Given the description of an element on the screen output the (x, y) to click on. 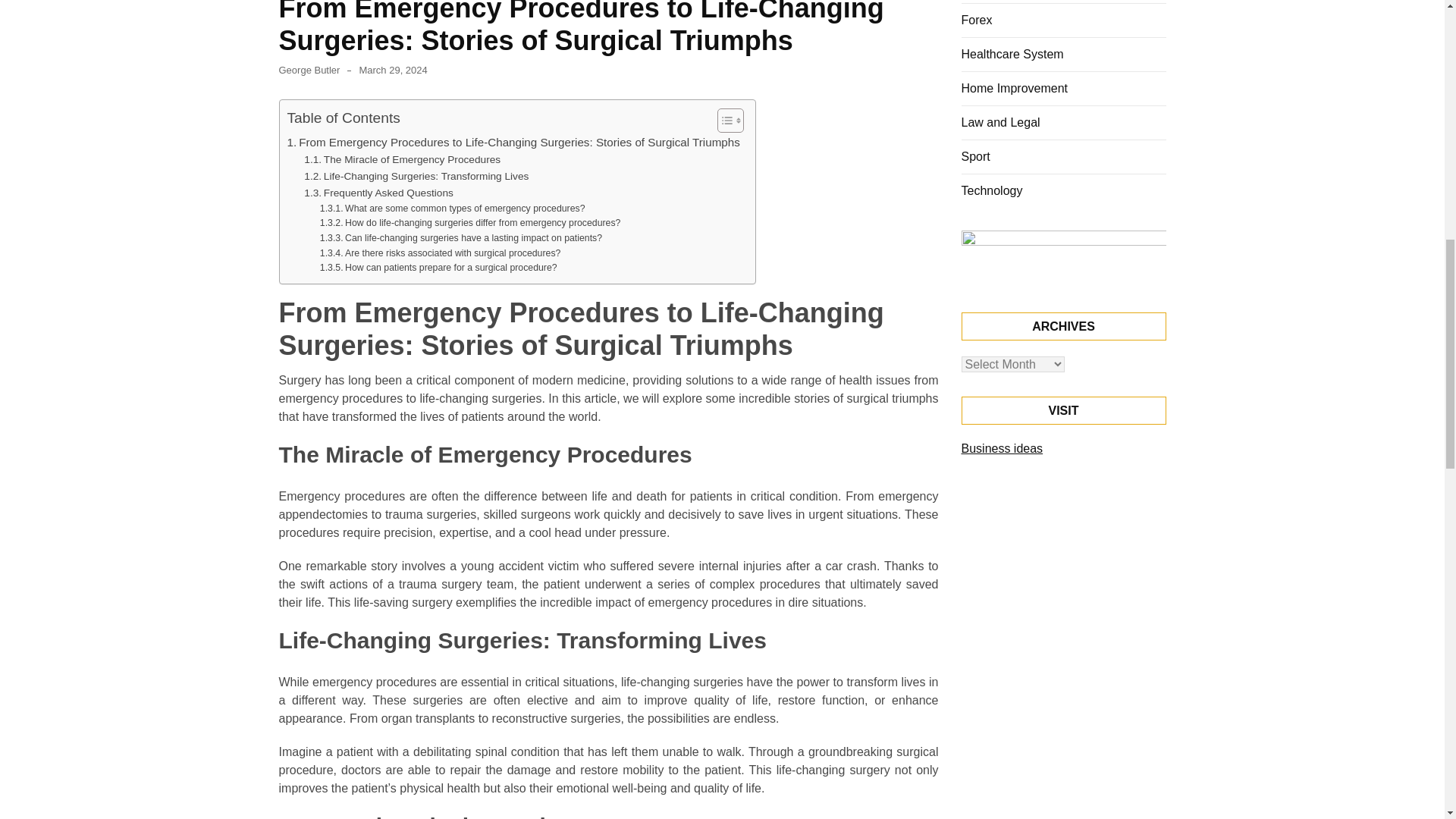
How can patients prepare for a surgical procedure? (438, 268)
What are some common types of emergency procedures? (452, 209)
Frequently Asked Questions (378, 193)
Life-Changing Surgeries: Transforming Lives (416, 176)
Are there risks associated with surgical procedures? (440, 253)
George Butler (309, 70)
The Miracle of Emergency Procedures (402, 159)
